Given the description of an element on the screen output the (x, y) to click on. 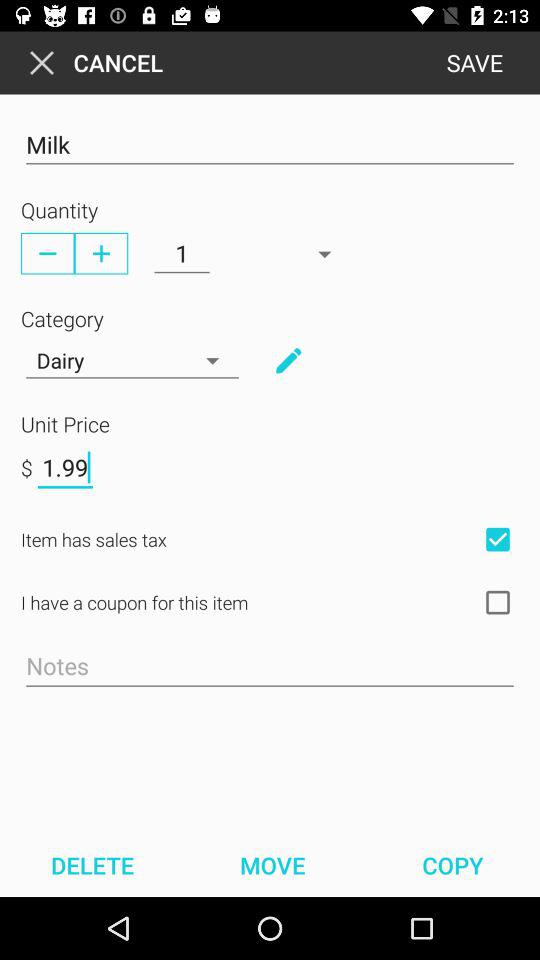
plus (101, 253)
